Given the description of an element on the screen output the (x, y) to click on. 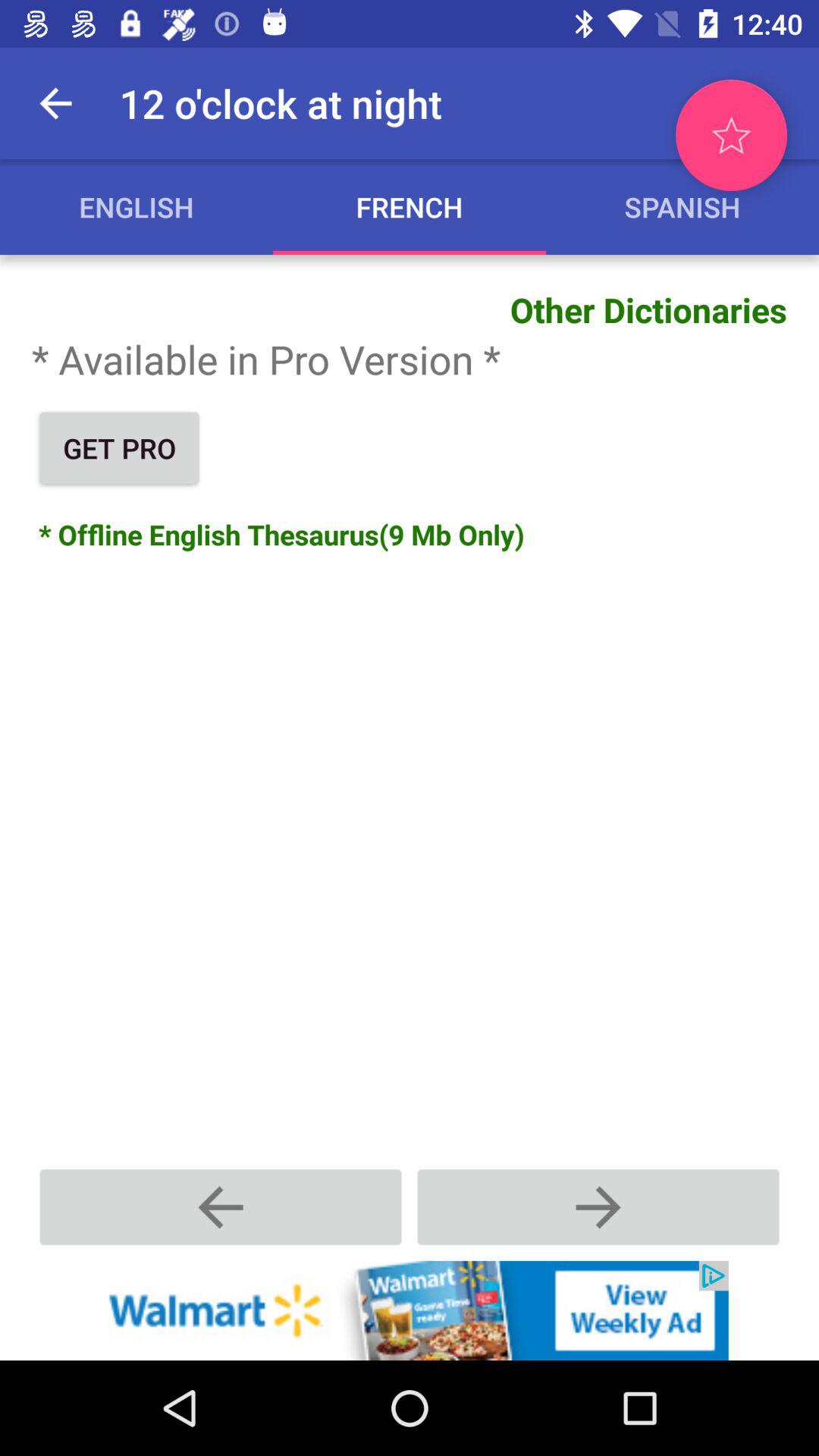
click to mark as favorite (731, 135)
